Given the description of an element on the screen output the (x, y) to click on. 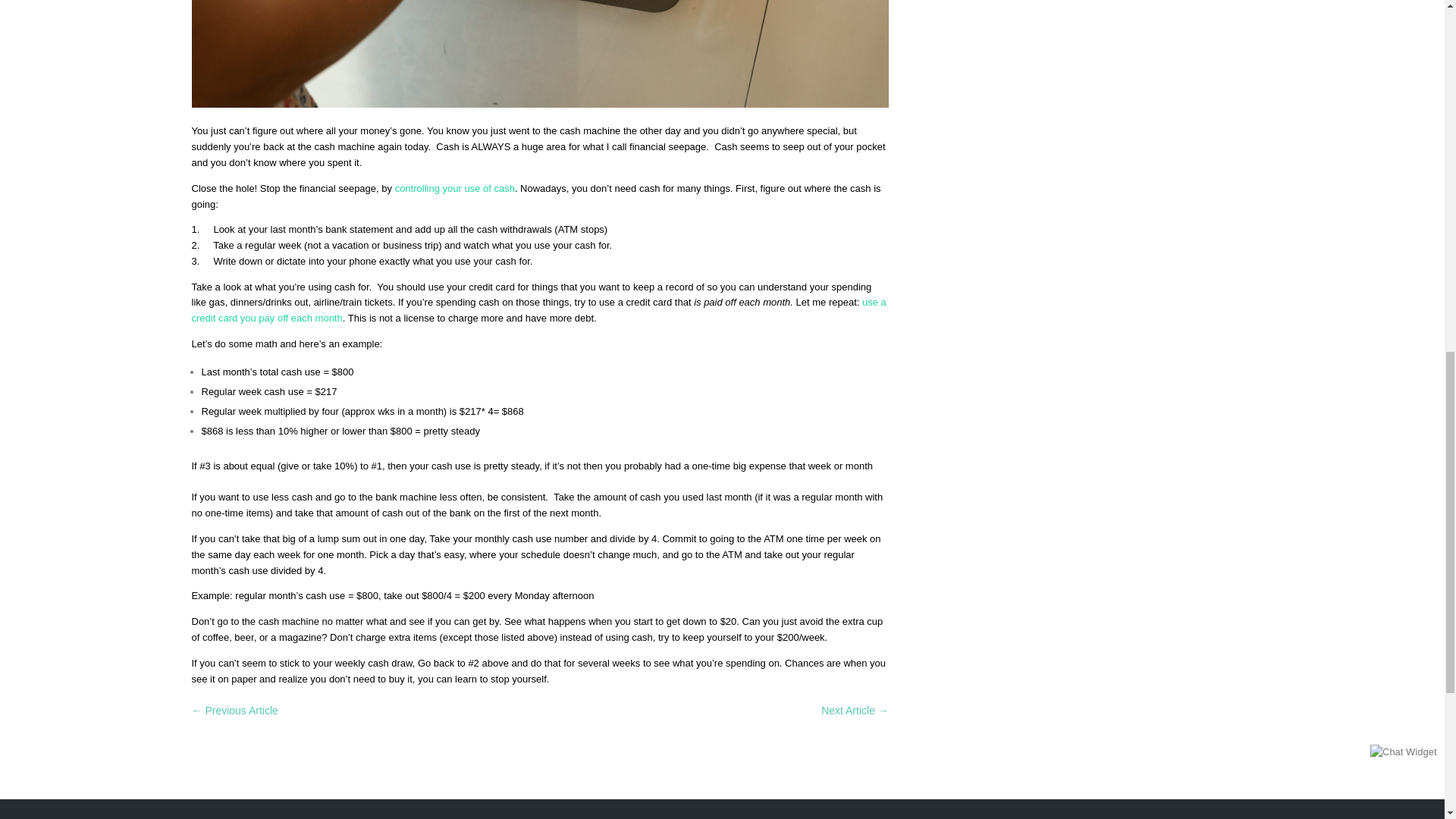
how often should (539, 54)
